Given the description of an element on the screen output the (x, y) to click on. 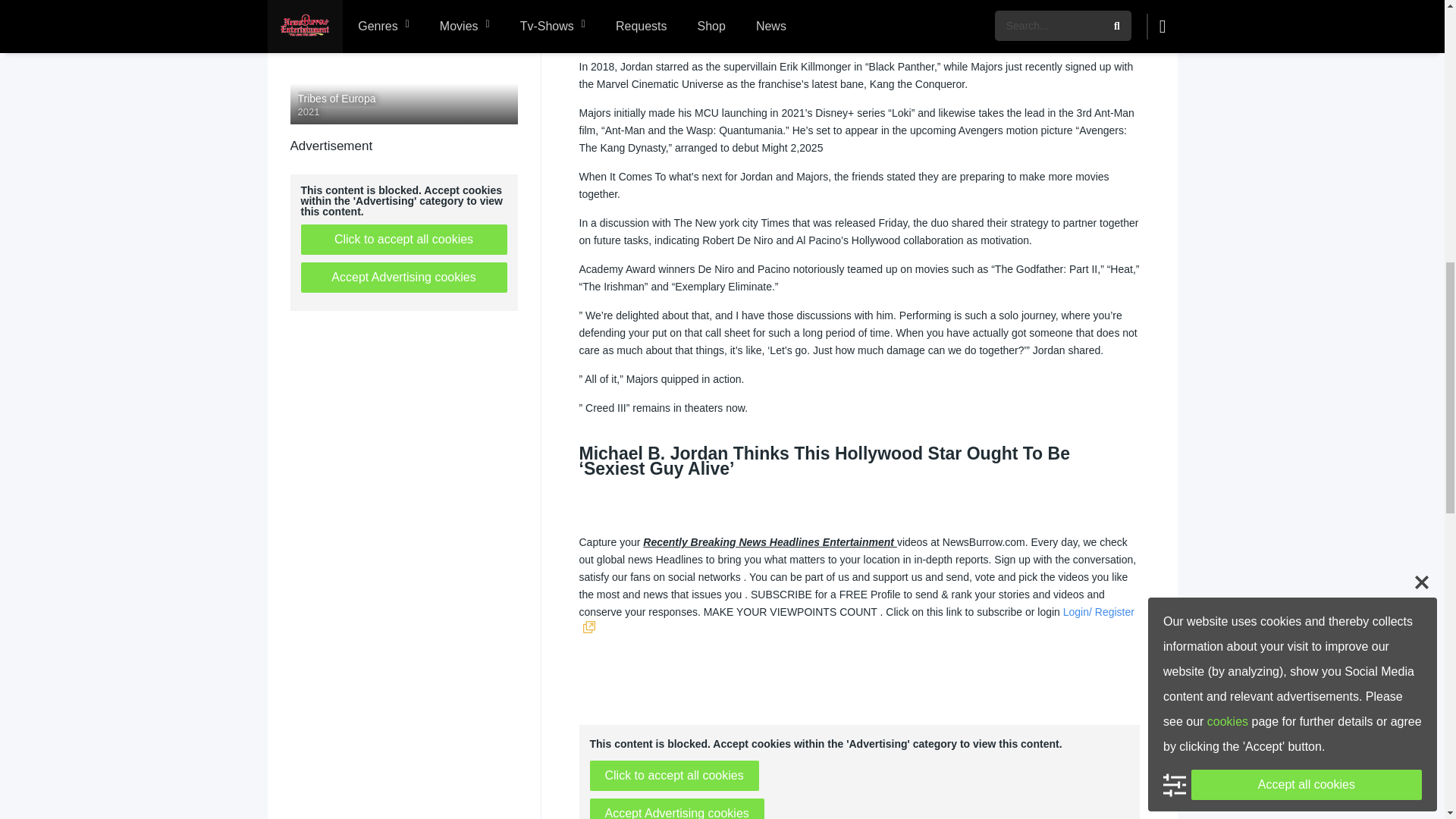
Link goes to external site. (588, 629)
